Given the description of an element on the screen output the (x, y) to click on. 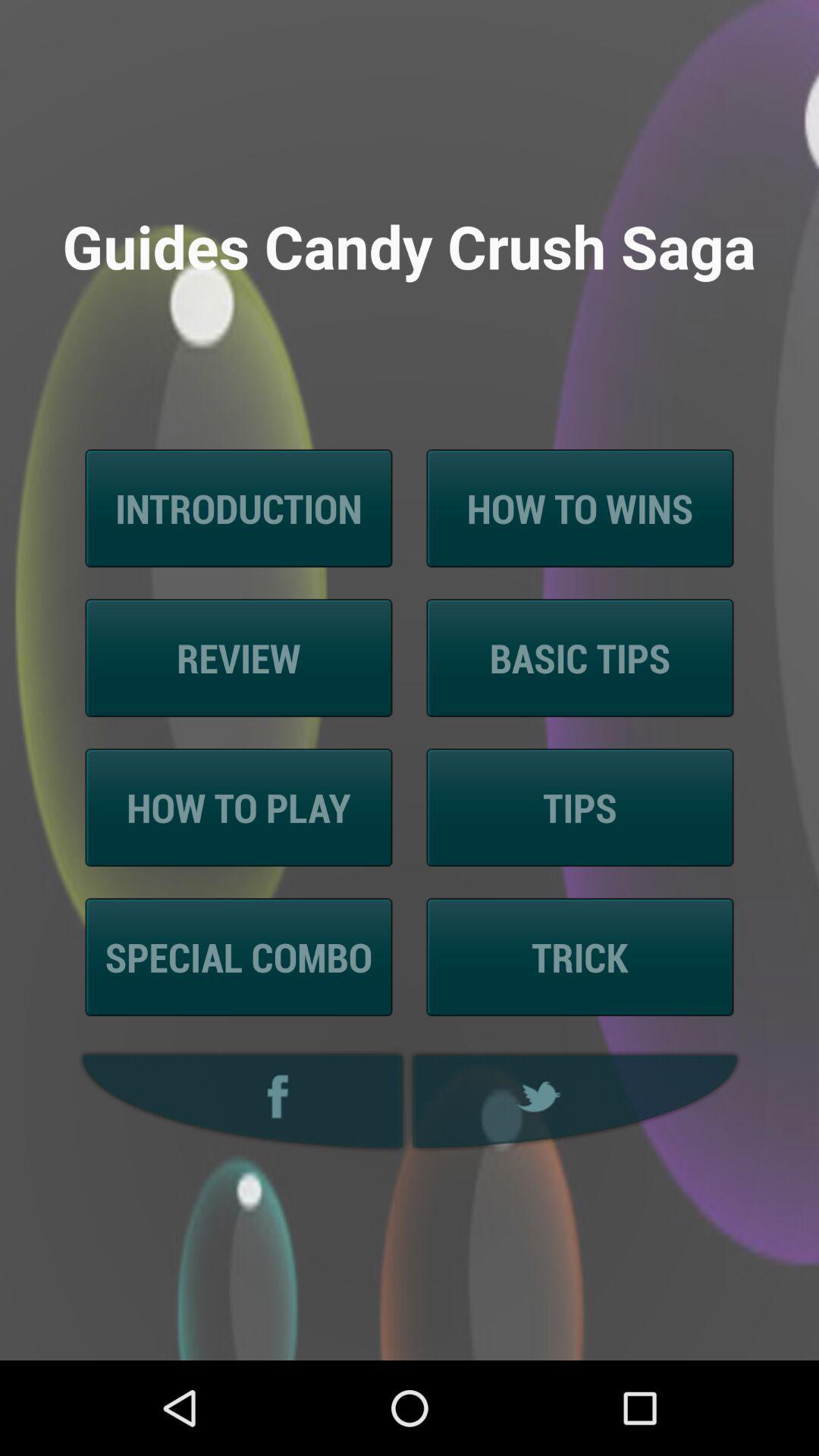
open icon next to the review icon (579, 657)
